Given the description of an element on the screen output the (x, y) to click on. 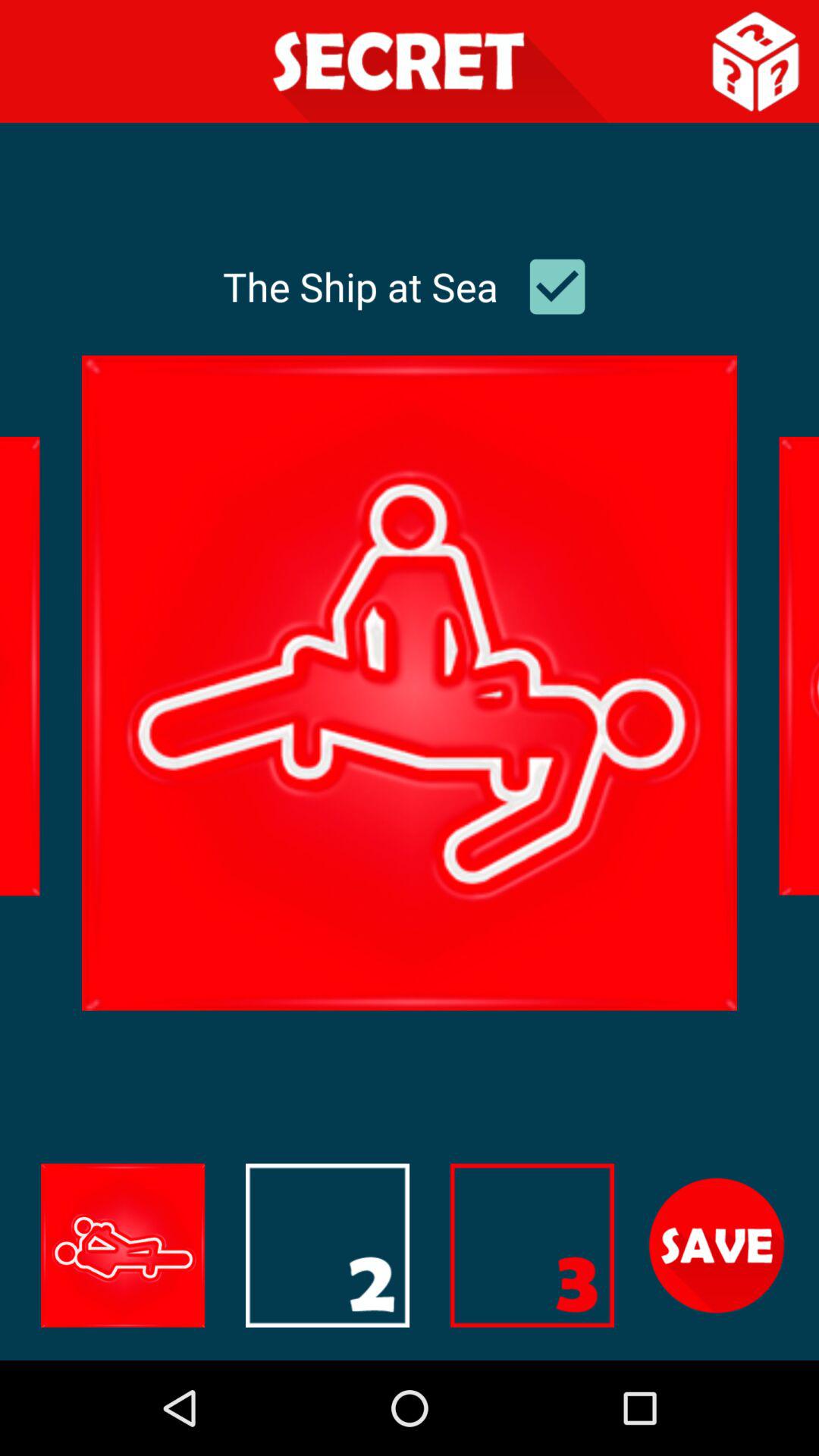
save (716, 1245)
